Given the description of an element on the screen output the (x, y) to click on. 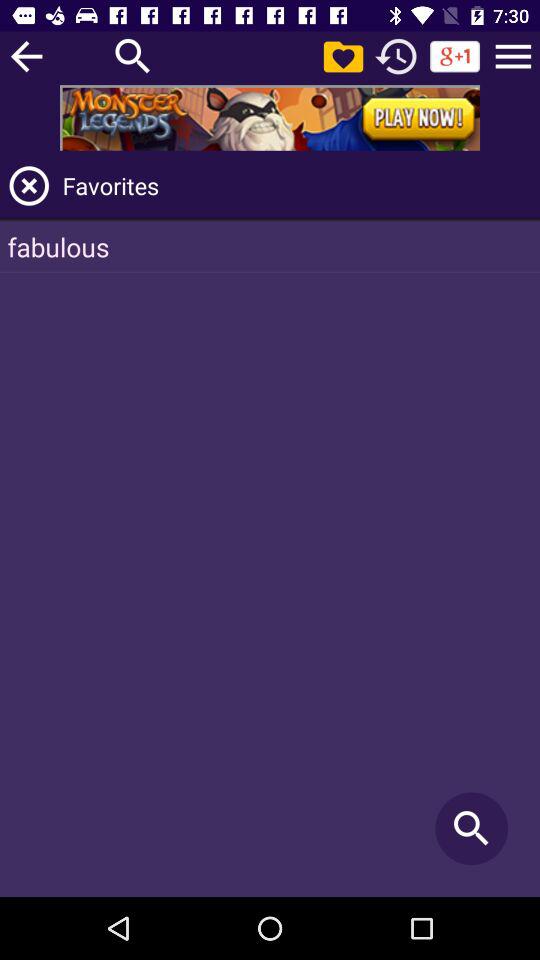
add pictures (343, 56)
